Given the description of an element on the screen output the (x, y) to click on. 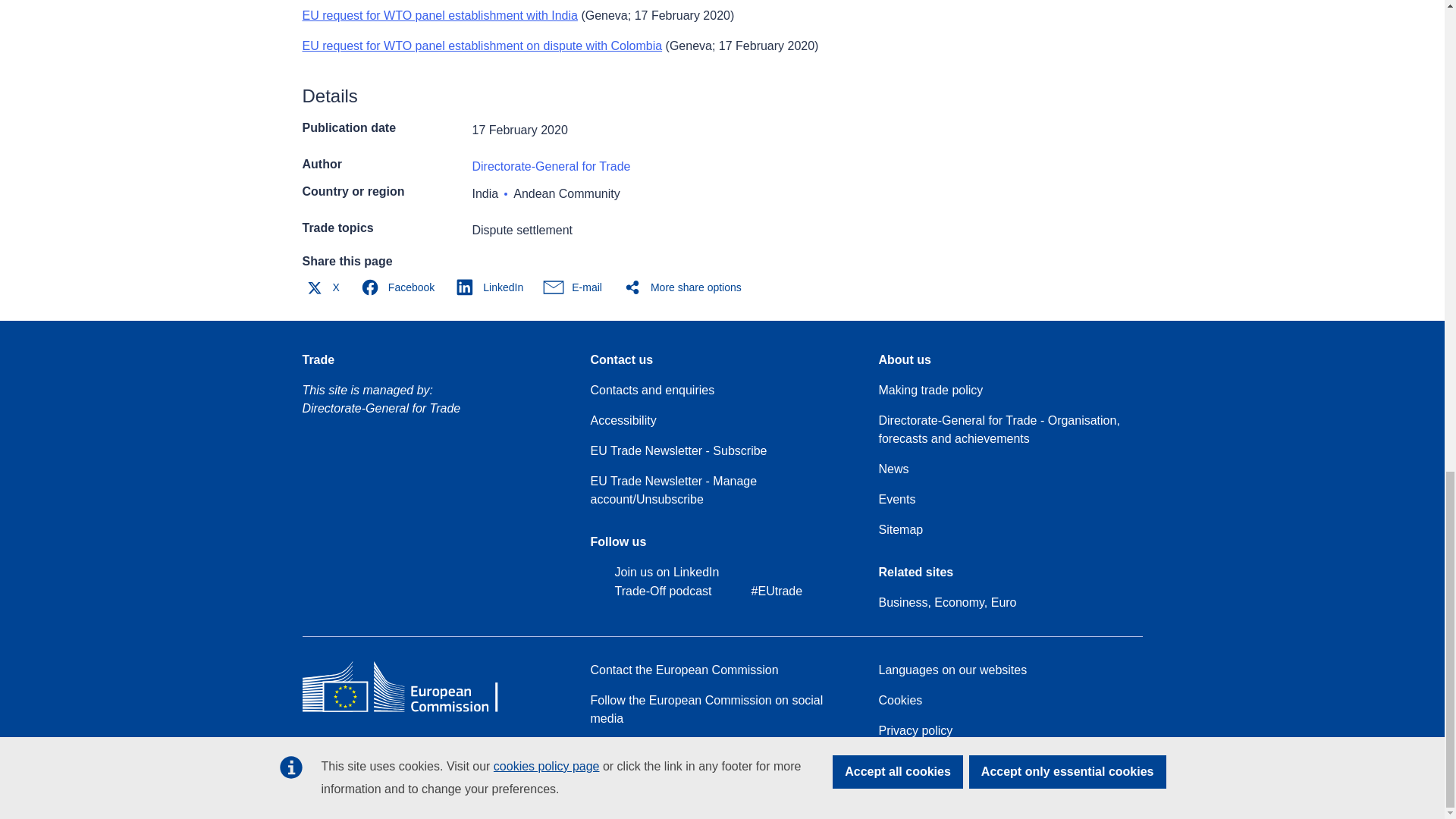
Directorate-General for Trade (550, 165)
EU request for WTO panel establishment with India (438, 15)
Trade (317, 360)
European Commission (411, 711)
LinkedIn (492, 287)
More share options (685, 287)
Facebook (401, 287)
X (324, 287)
E-mail (576, 287)
